Given the description of an element on the screen output the (x, y) to click on. 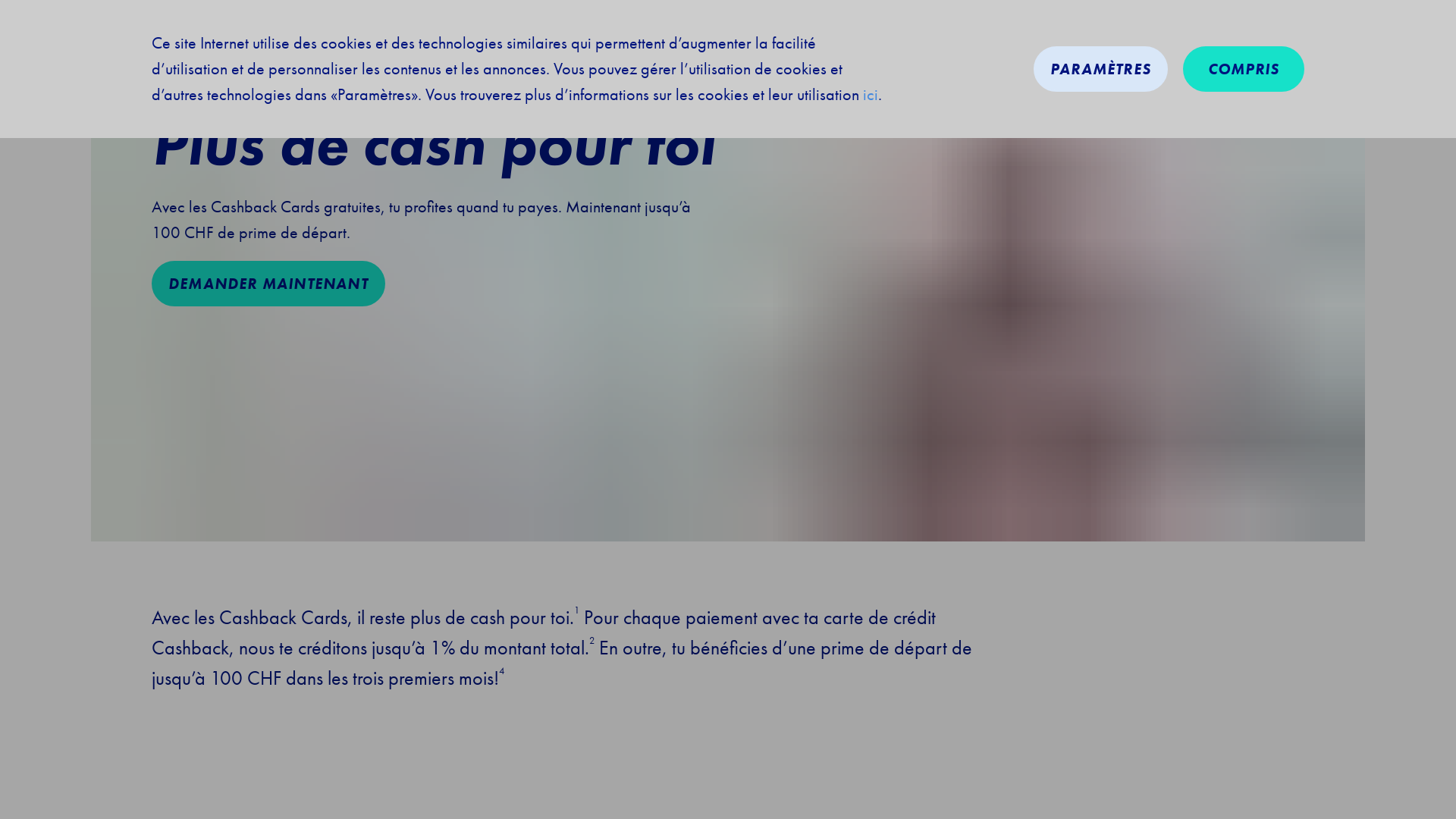
cashback Element type: text (157, 16)
ici Element type: text (870, 94)
COMPRIS Element type: text (1243, 68)
DEMANDER MAINTENANT Element type: text (268, 283)
FR Element type: text (1292, 16)
